Given the description of an element on the screen output the (x, y) to click on. 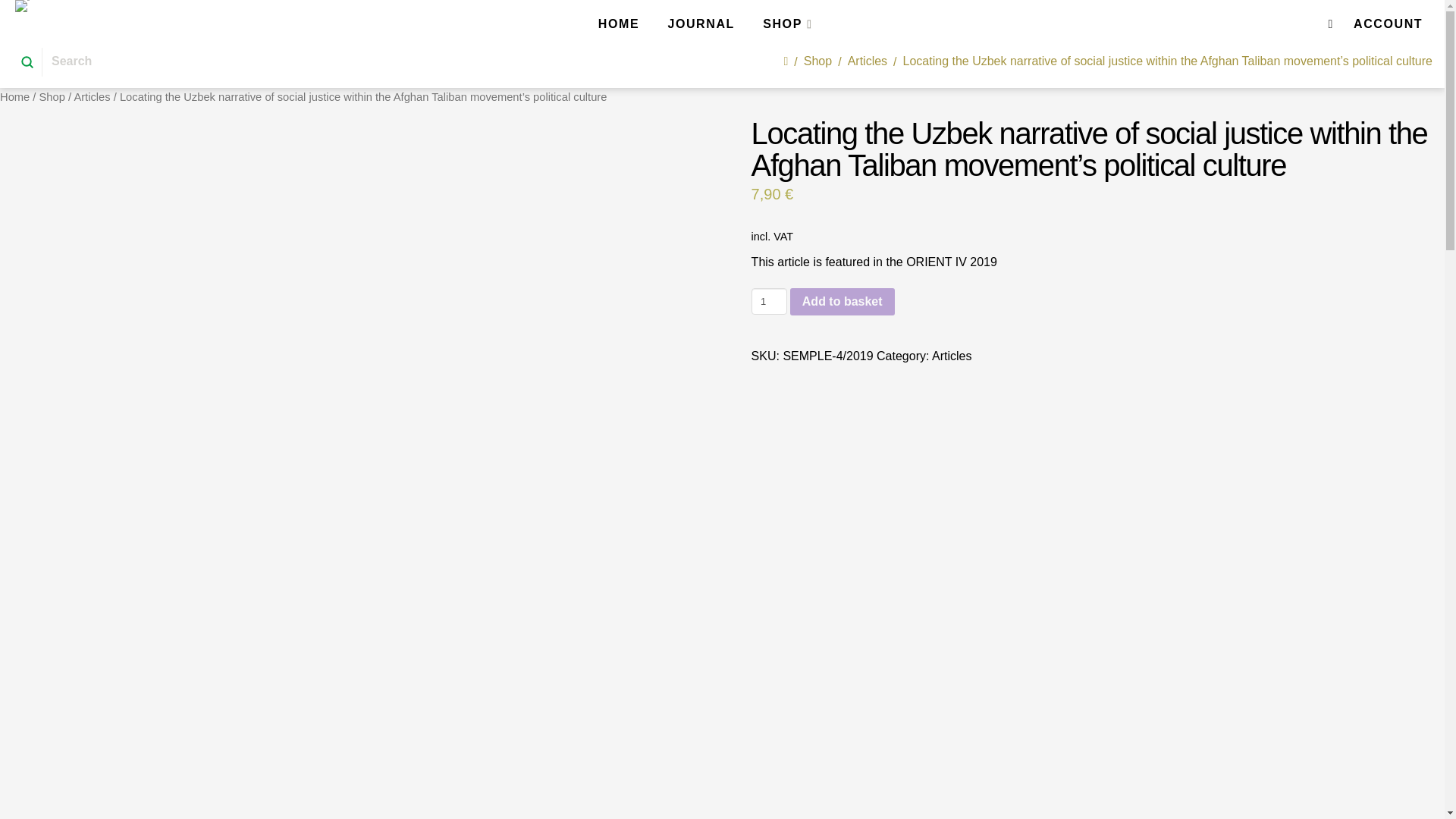
JOURNAL (700, 23)
Articles (92, 96)
Submit (26, 61)
You Are Here (1167, 61)
Home (14, 96)
Articles (951, 355)
SHOP (787, 23)
Articles (866, 61)
Shop (817, 61)
1 (769, 300)
